Given the description of an element on the screen output the (x, y) to click on. 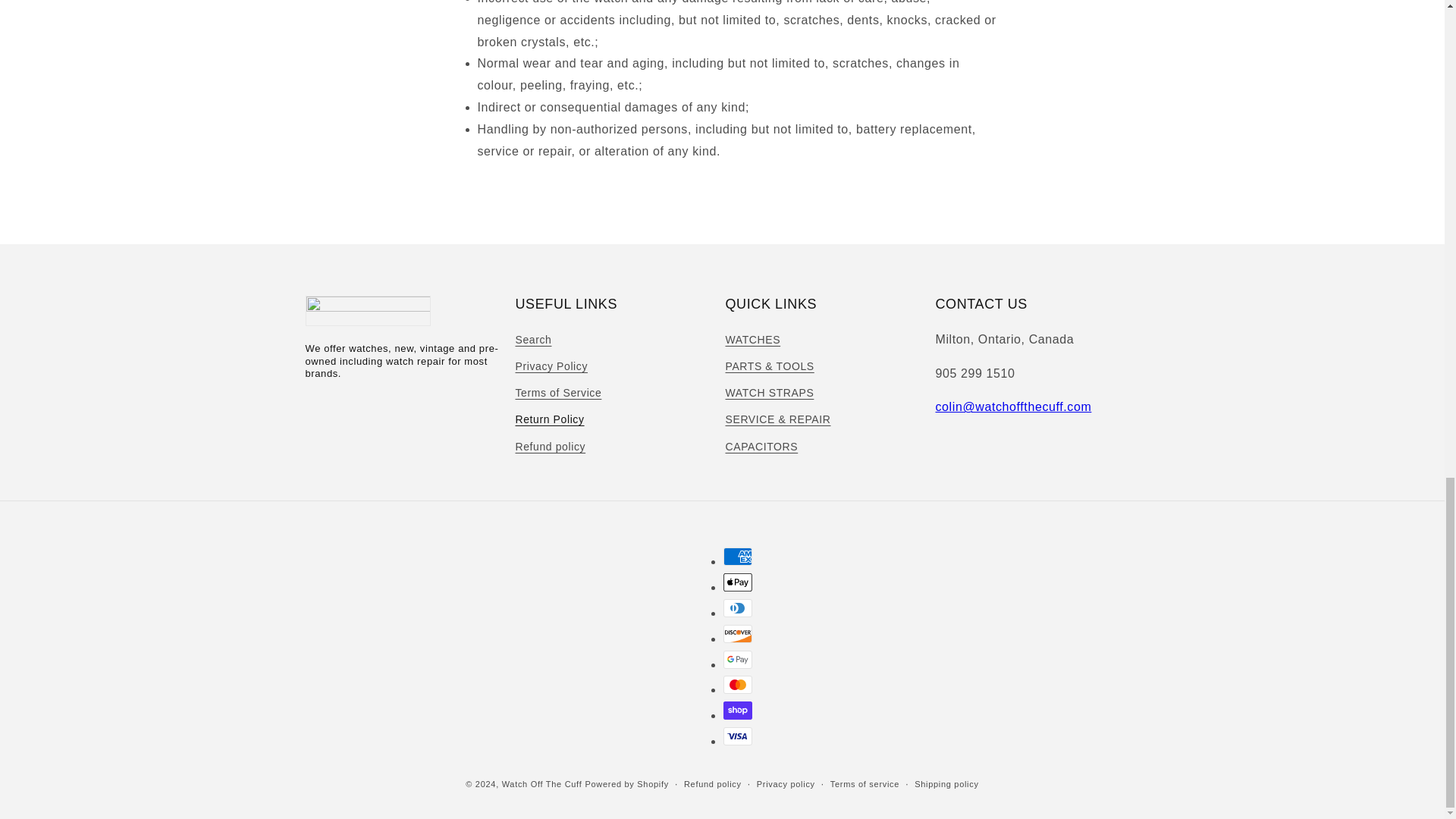
Diners Club (737, 607)
American Express (737, 556)
Visa (737, 736)
Discover (737, 633)
Mastercard (737, 684)
Google Pay (737, 659)
Shop Pay (737, 710)
Apple Pay (737, 582)
